Given the description of an element on the screen output the (x, y) to click on. 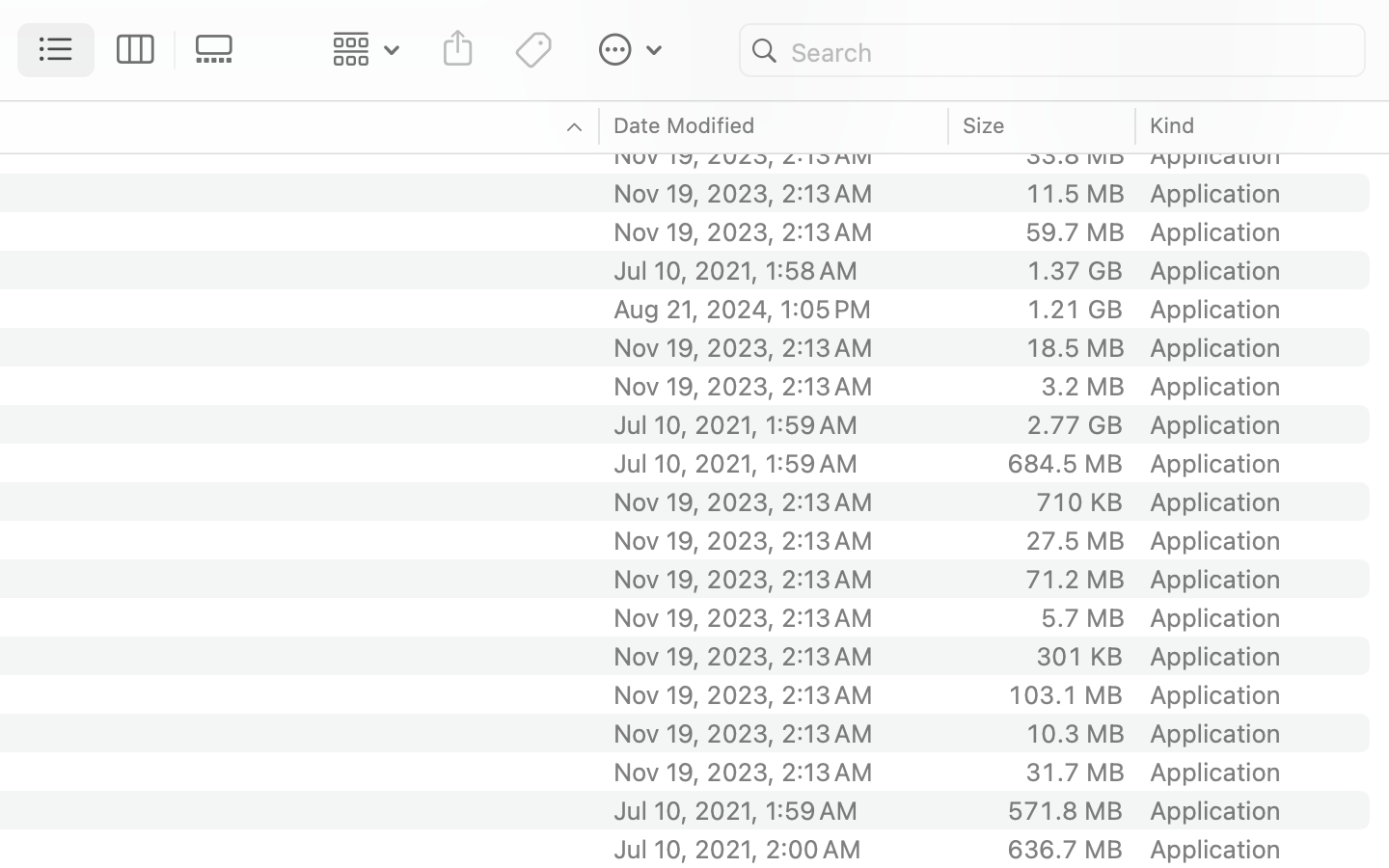
71.2 MB Element type: AXStaticText (1074, 578)
Jul 10, 2021, 1:59 AM Element type: AXStaticText (774, 809)
Nov 19, 2023, 2:13 AM Element type: AXStaticText (774, 76)
10.3 MB Element type: AXStaticText (1074, 732)
14.1 MB Element type: AXStaticText (1074, 38)
